Given the description of an element on the screen output the (x, y) to click on. 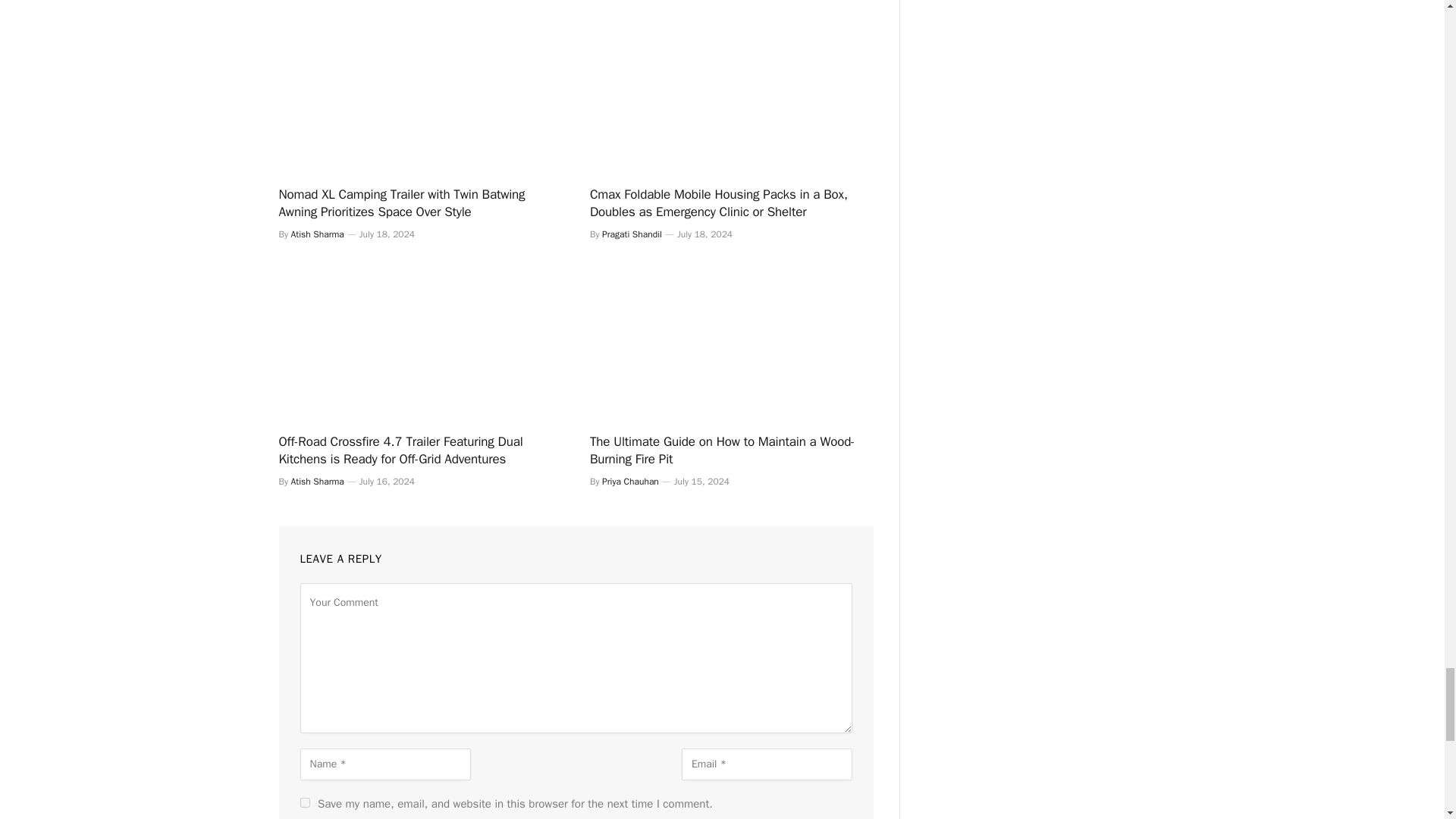
yes (304, 802)
